Given the description of an element on the screen output the (x, y) to click on. 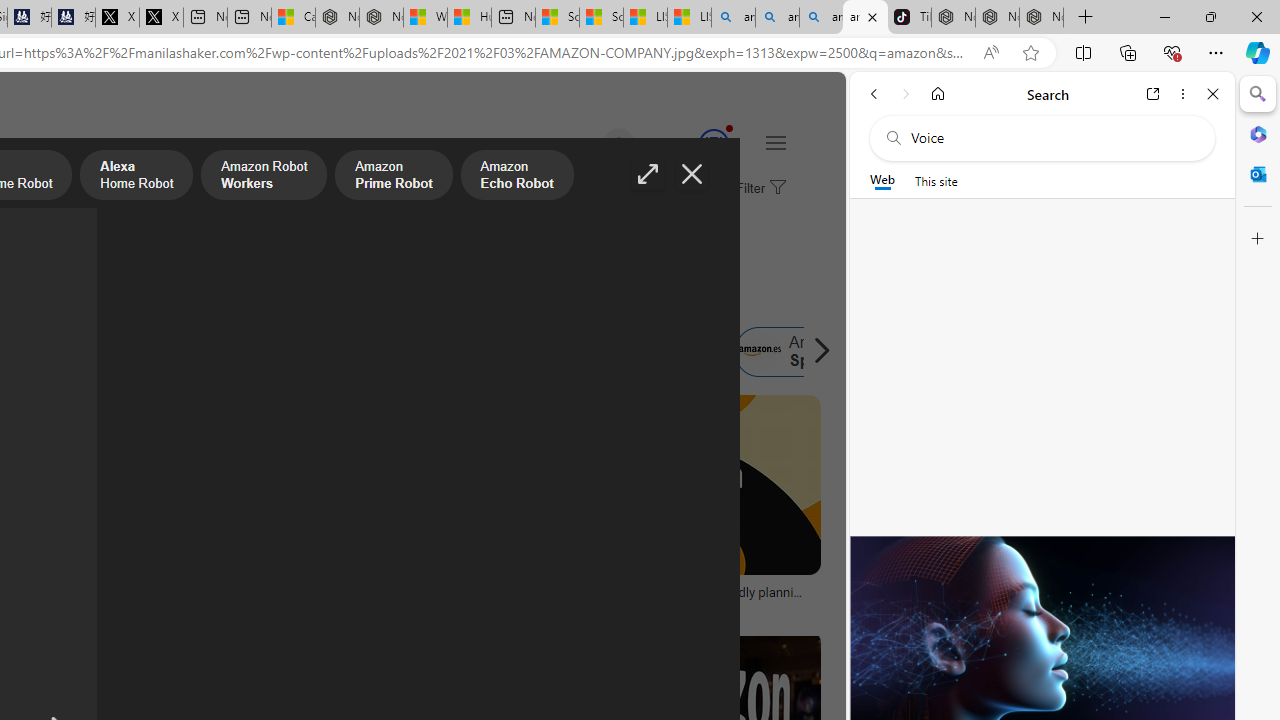
Amazon Forest (475, 351)
Huge shark washes ashore at New York City beach | Watch (469, 17)
theverge.com (685, 606)
logopng.com.br (98, 606)
Microsoft Rewards 135 (690, 143)
Amazon Shoes (618, 351)
